Given the description of an element on the screen output the (x, y) to click on. 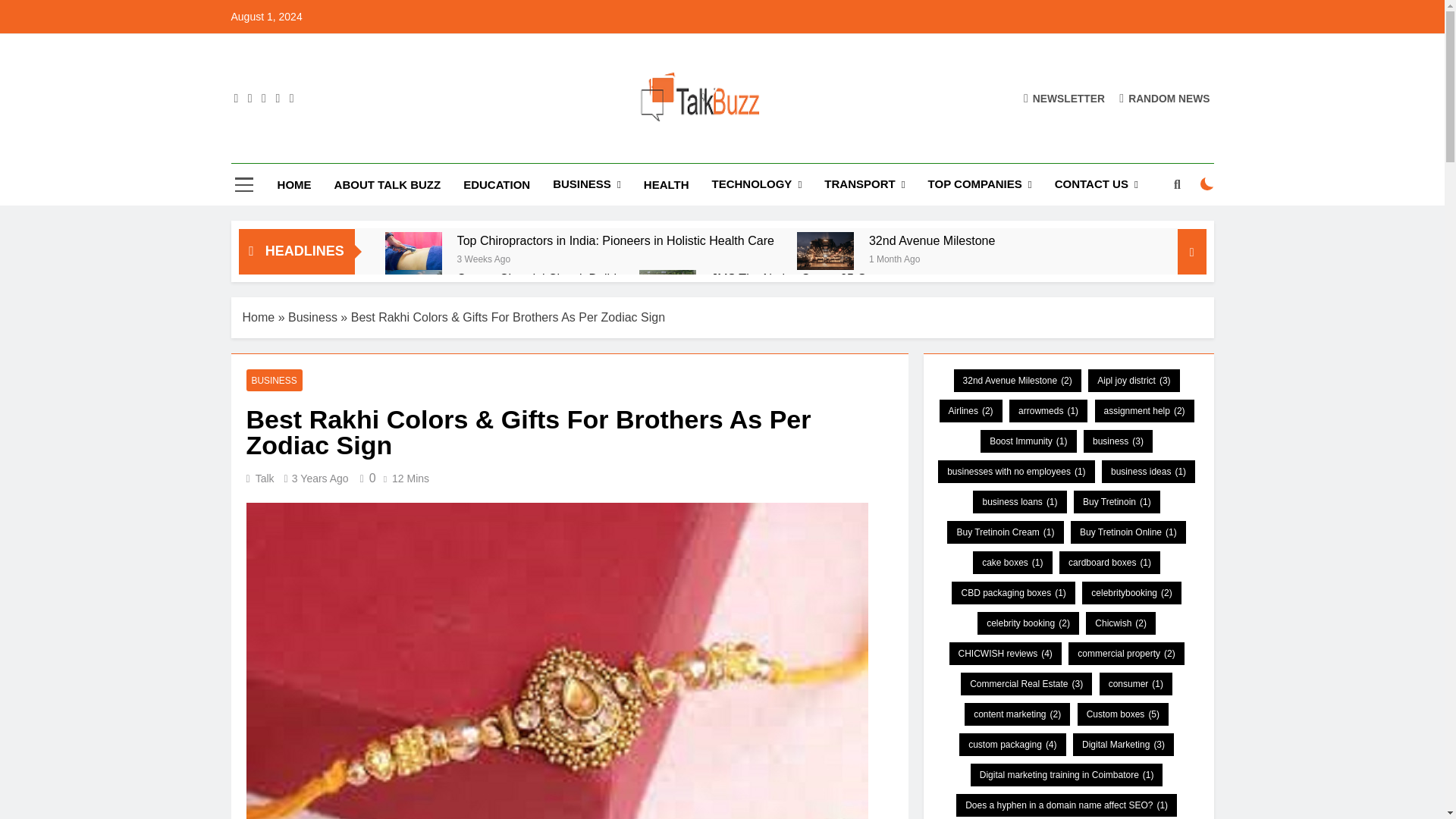
Top Chiropractors in India: Pioneers in Holistic Health Care (615, 240)
Talk Buzz (503, 149)
ABOUT TALK BUZZ (387, 184)
HOME (294, 184)
32nd Avenue Milestone (824, 250)
BUSINESS (586, 184)
on (1206, 183)
Top Chiropractors in India: Pioneers in Holistic Health Care (413, 250)
EDUCATION (496, 184)
NEWSLETTER (1064, 97)
RANDOM NEWS (1164, 97)
